Given the description of an element on the screen output the (x, y) to click on. 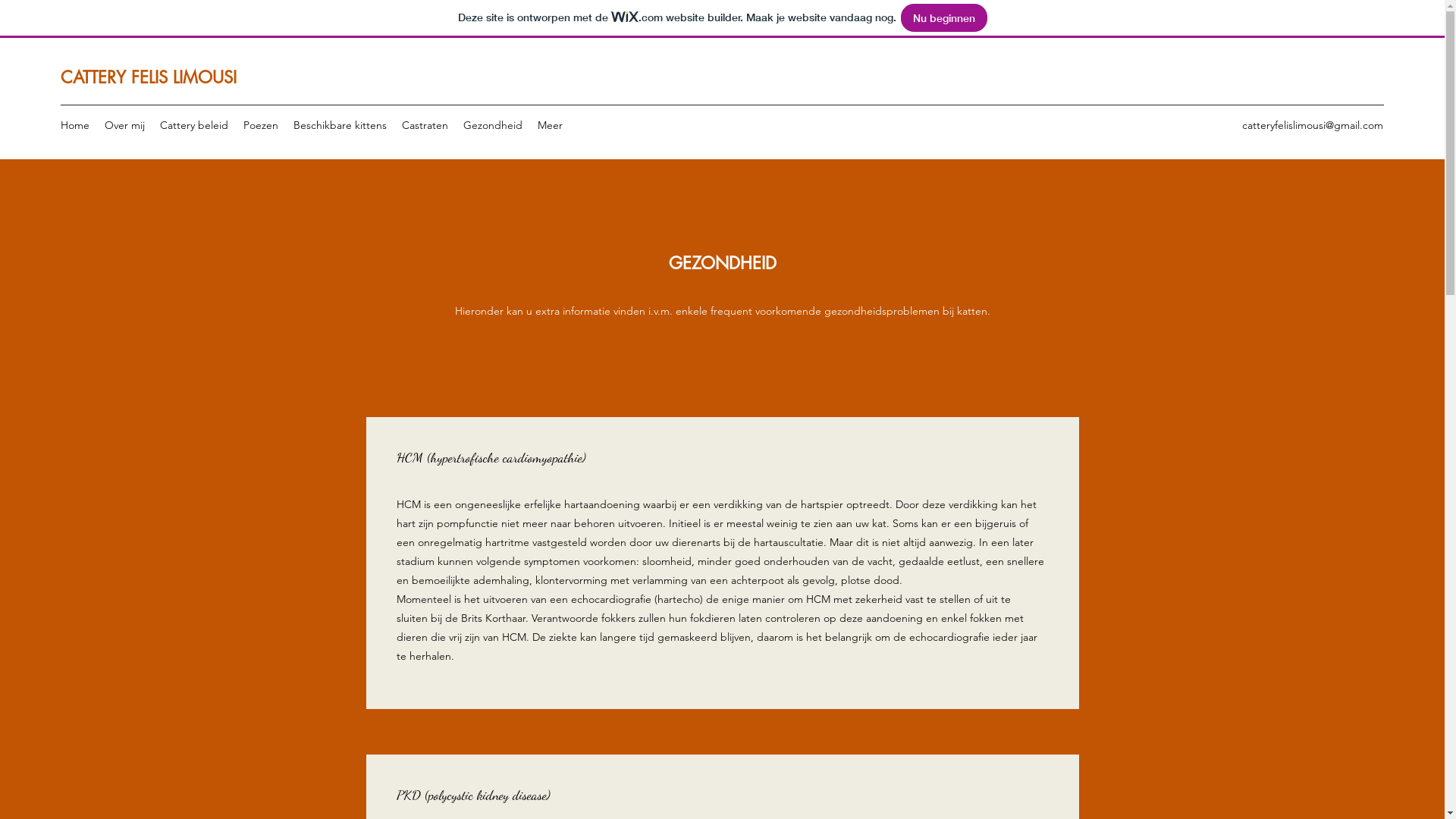
Castraten Element type: text (424, 124)
Poezen Element type: text (260, 124)
Home Element type: text (75, 124)
Over mij Element type: text (124, 124)
catteryfelislimousi@gmail.com Element type: text (1312, 124)
Gezondheid Element type: text (492, 124)
Cattery beleid Element type: text (193, 124)
Beschikbare kittens Element type: text (339, 124)
